Given the description of an element on the screen output the (x, y) to click on. 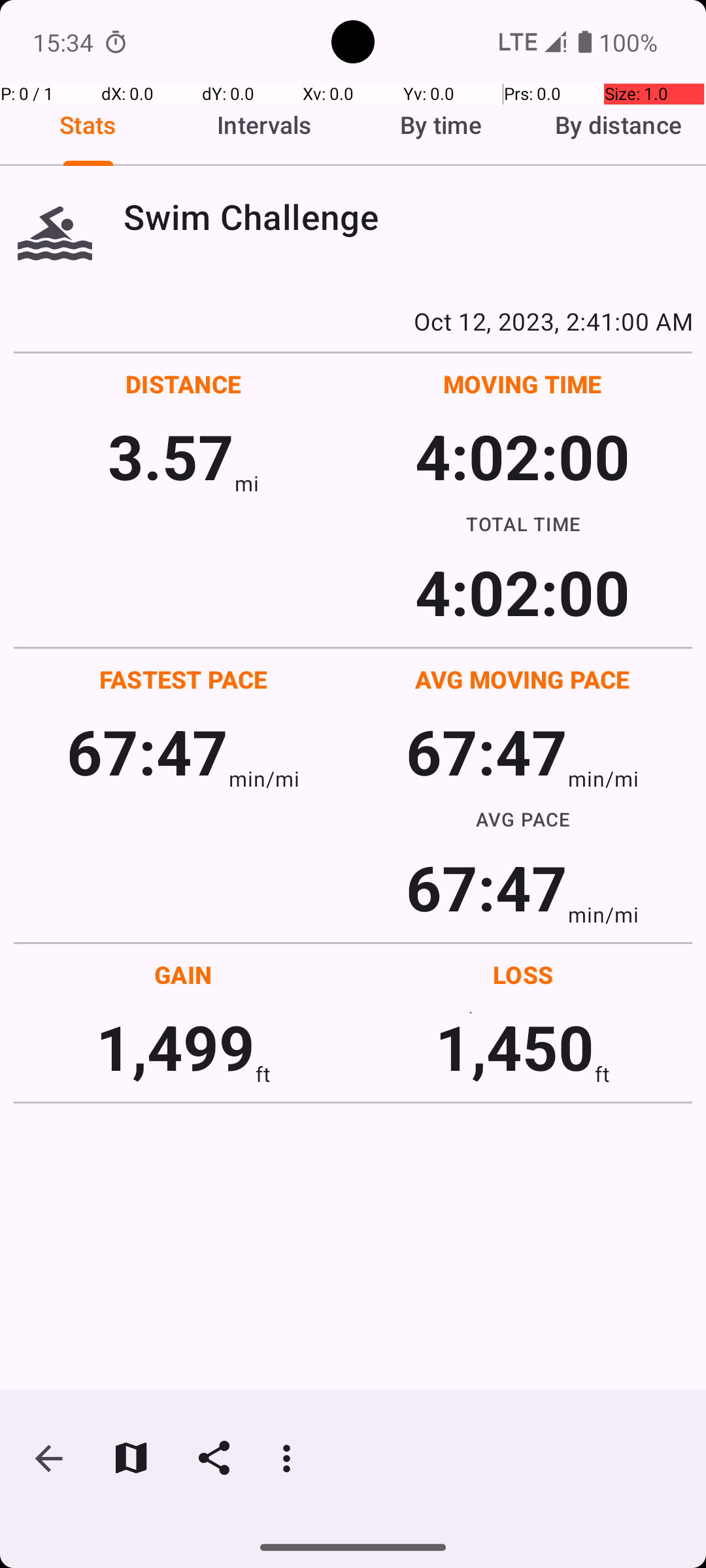
Swim Challenge Element type: android.widget.TextView (407, 216)
Oct 12, 2023, 2:41:00 AM Element type: android.widget.TextView (352, 320)
3.57 Element type: android.widget.TextView (170, 455)
4:02:00 Element type: android.widget.TextView (522, 455)
67:47 Element type: android.widget.TextView (147, 750)
1,499 Element type: android.widget.TextView (175, 1045)
1,450 Element type: android.widget.TextView (514, 1045)
